Given the description of an element on the screen output the (x, y) to click on. 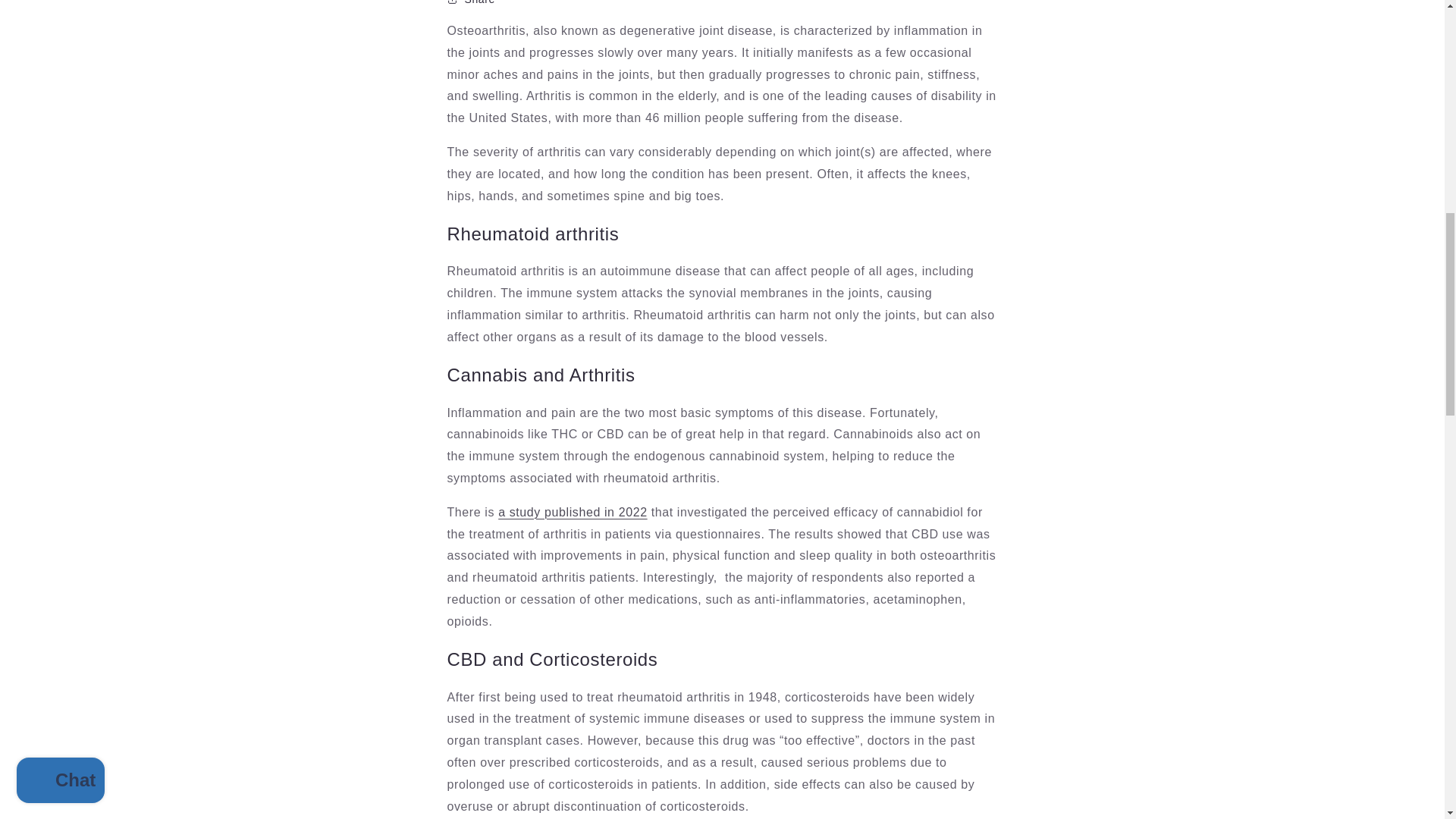
a study published in 2022 (571, 512)
